Given the description of an element on the screen output the (x, y) to click on. 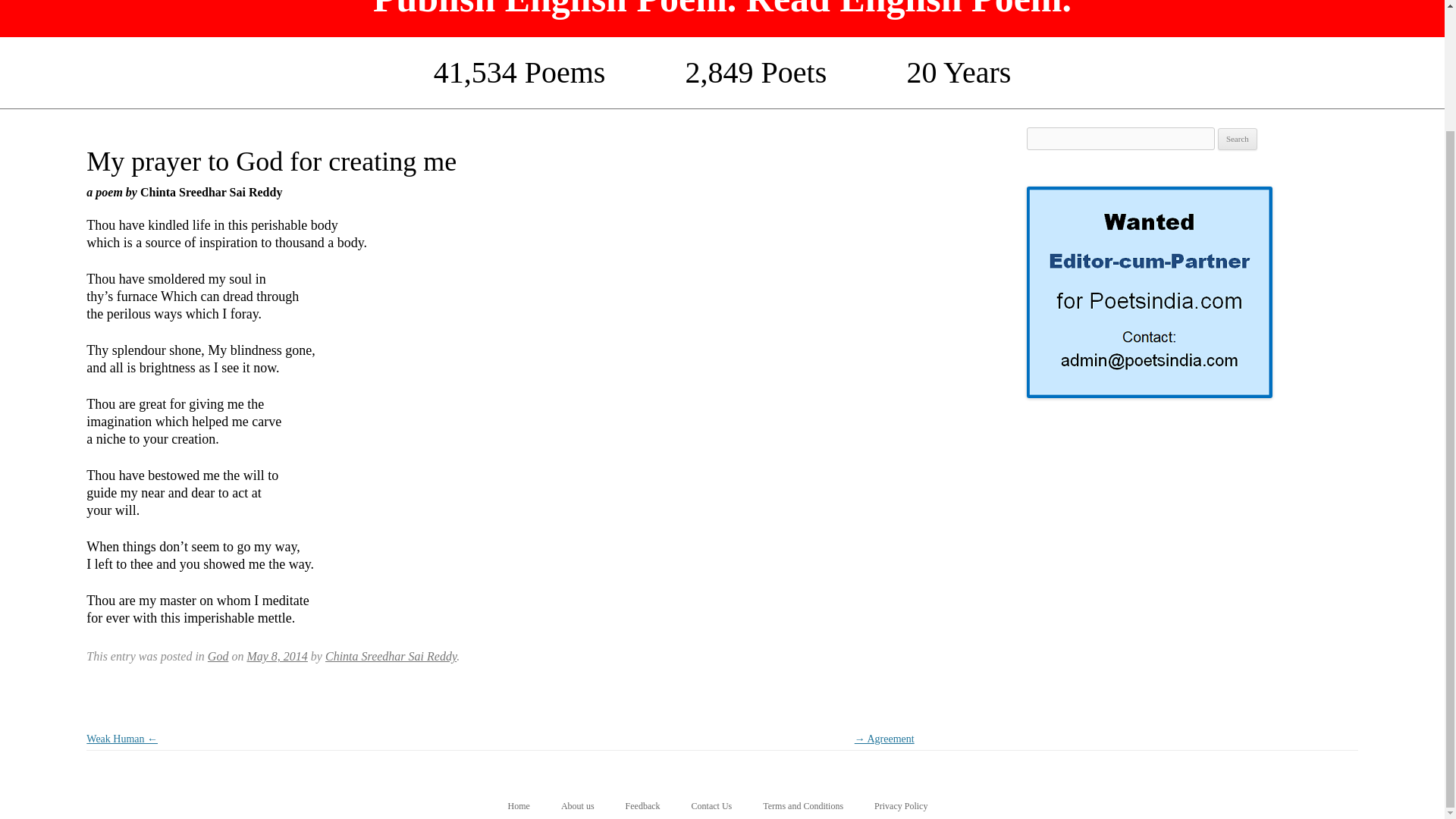
Terms and Conditions (802, 805)
Feedback (643, 805)
Home (518, 805)
Chinta Sreedhar Sai Reddy (390, 656)
4:09 am (276, 656)
View all posts by Chinta Sreedhar Sai Reddy (390, 656)
God (218, 656)
Privacy Policy (901, 805)
Search (1237, 138)
May 8, 2014 (276, 656)
About us (577, 805)
Search (1237, 138)
Contact Us (711, 805)
